Given the description of an element on the screen output the (x, y) to click on. 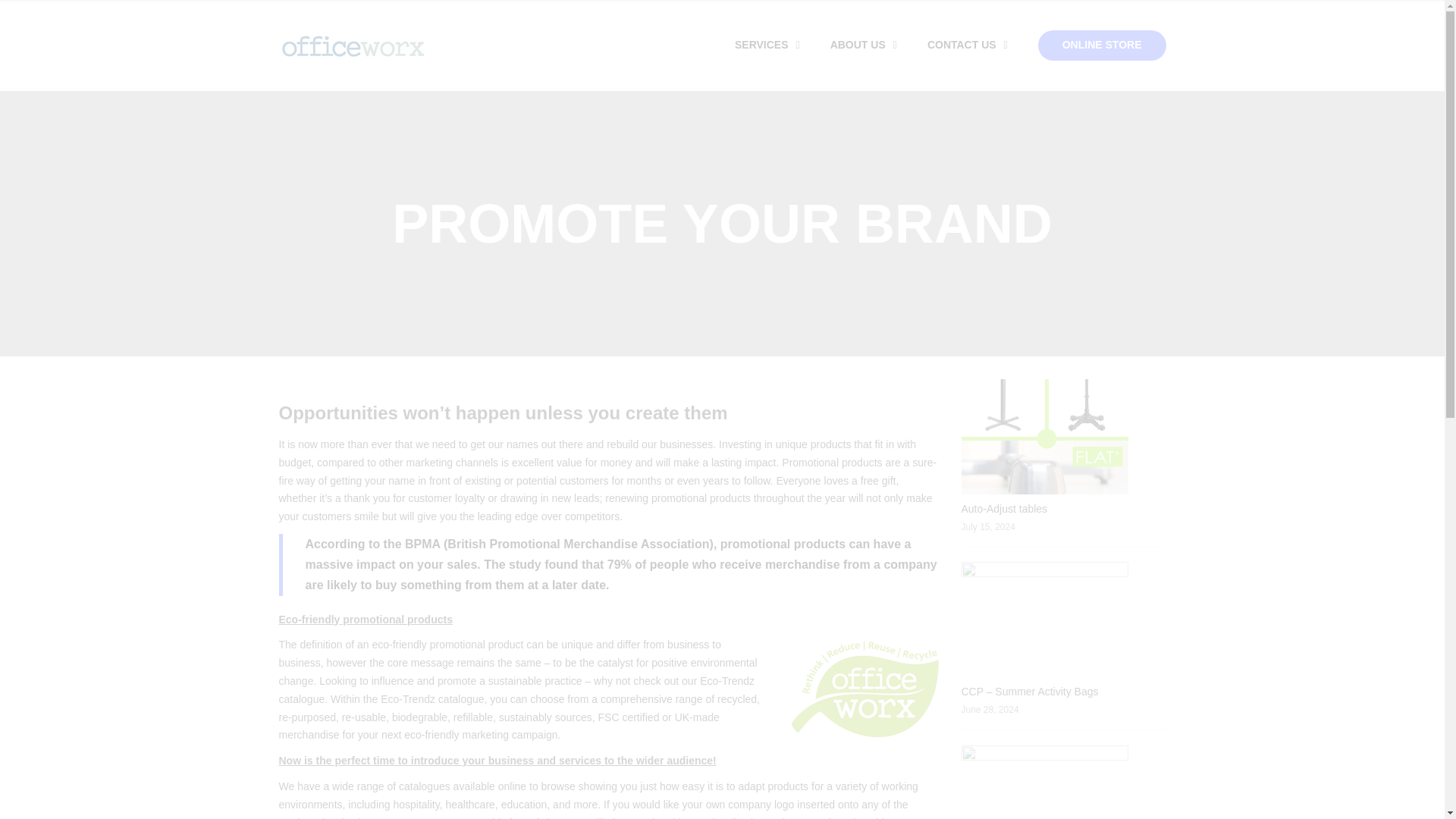
ABOUT US (863, 45)
CONTACT US (967, 45)
ONLINE STORE (1102, 45)
SERVICES (767, 45)
Auto-Adjust tables (1004, 508)
